Given the description of an element on the screen output the (x, y) to click on. 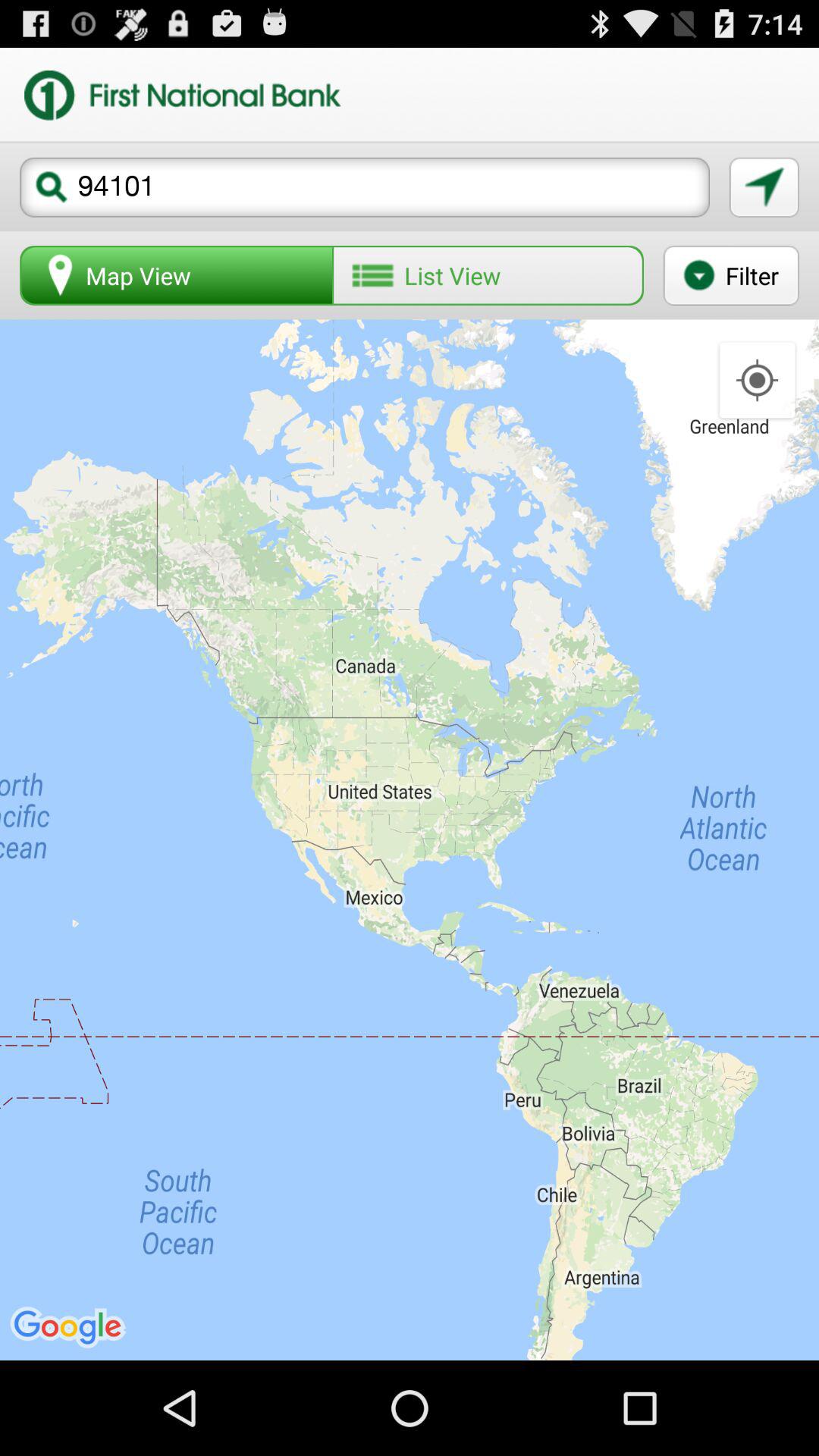
swipe until 94101 item (364, 187)
